Given the description of an element on the screen output the (x, y) to click on. 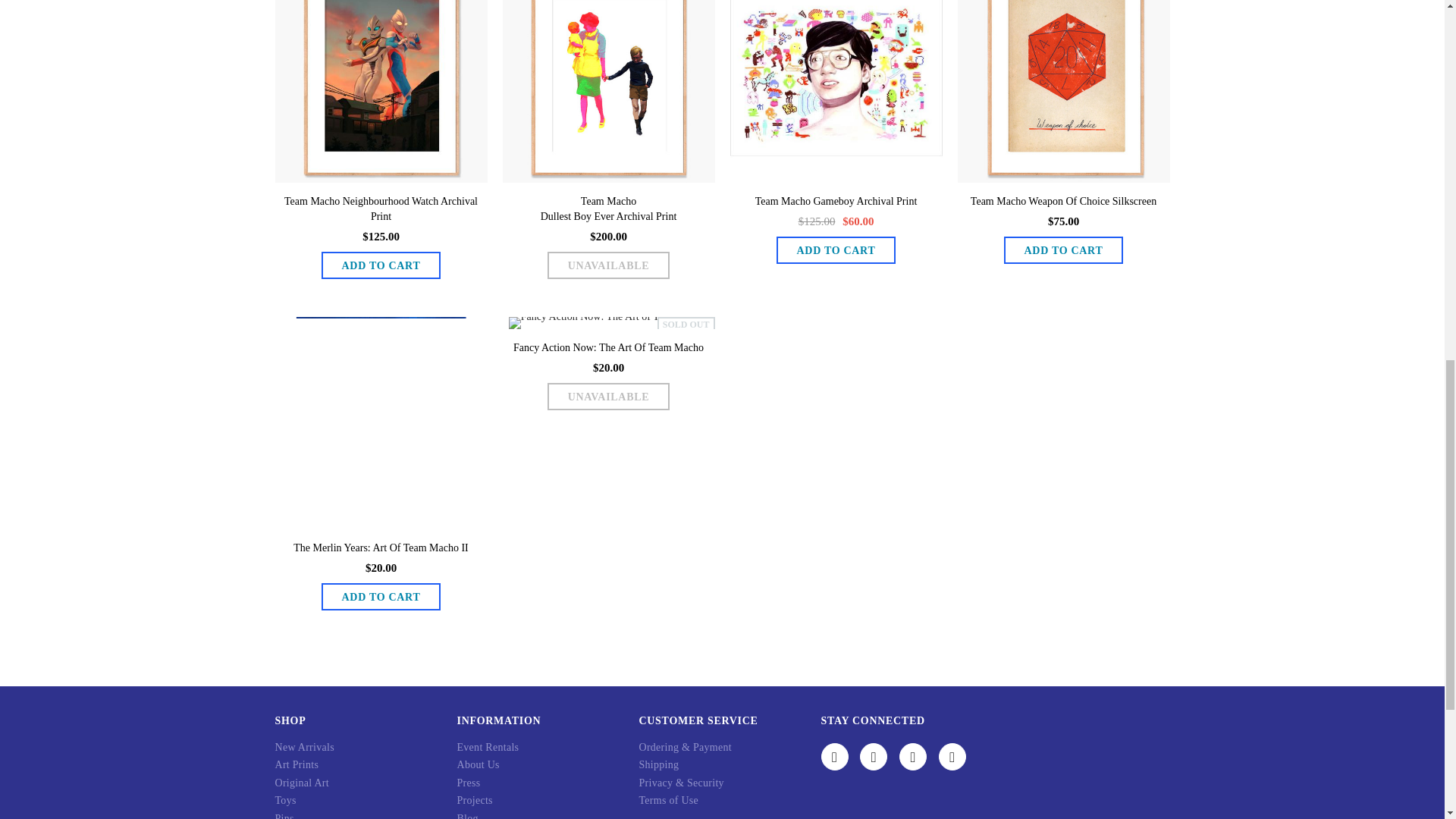
Pinterest (952, 756)
Add to Cart (381, 265)
Add to Cart (381, 596)
Add to Cart (836, 249)
Unavailable (608, 396)
Instagram (912, 756)
Twitter (873, 756)
Facebook (834, 756)
Add to Cart (1064, 249)
Unavailable (608, 265)
